Given the description of an element on the screen output the (x, y) to click on. 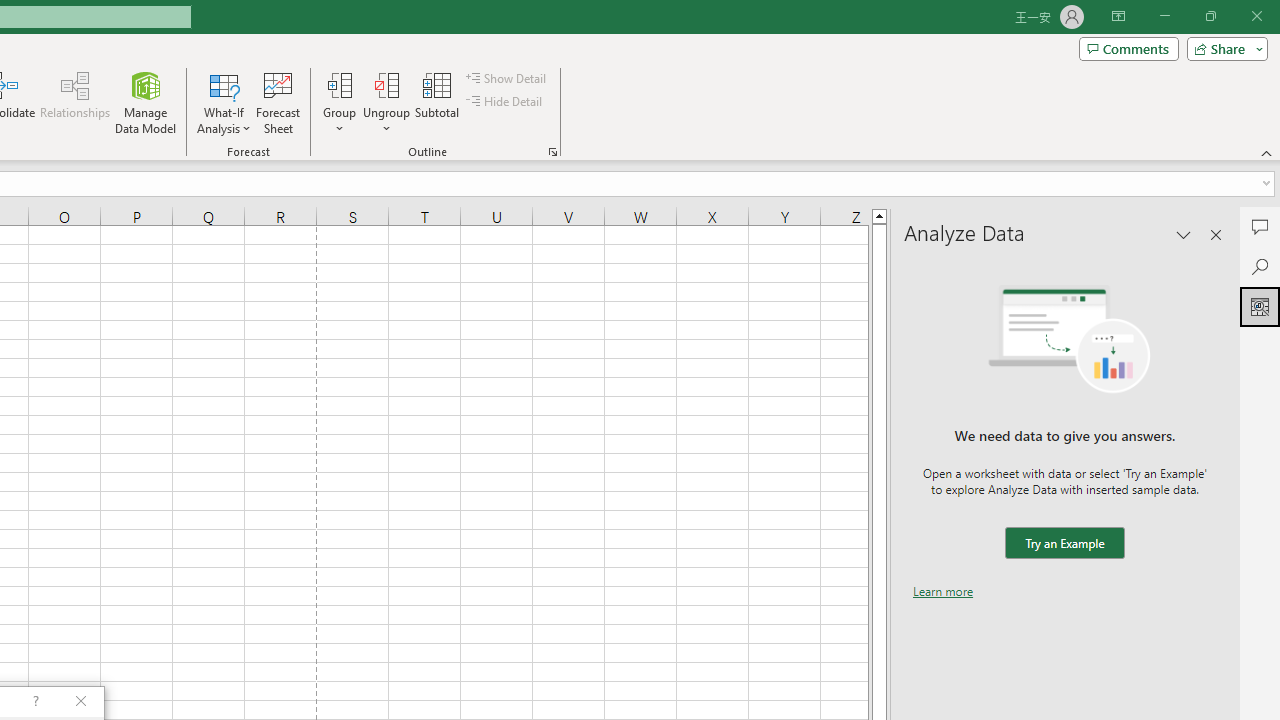
Hide Detail (505, 101)
We need data to give you answers. Try an Example (1064, 543)
Forecast Sheet (278, 102)
Learn more (943, 591)
Manage Data Model (145, 102)
What-If Analysis (223, 102)
